Given the description of an element on the screen output the (x, y) to click on. 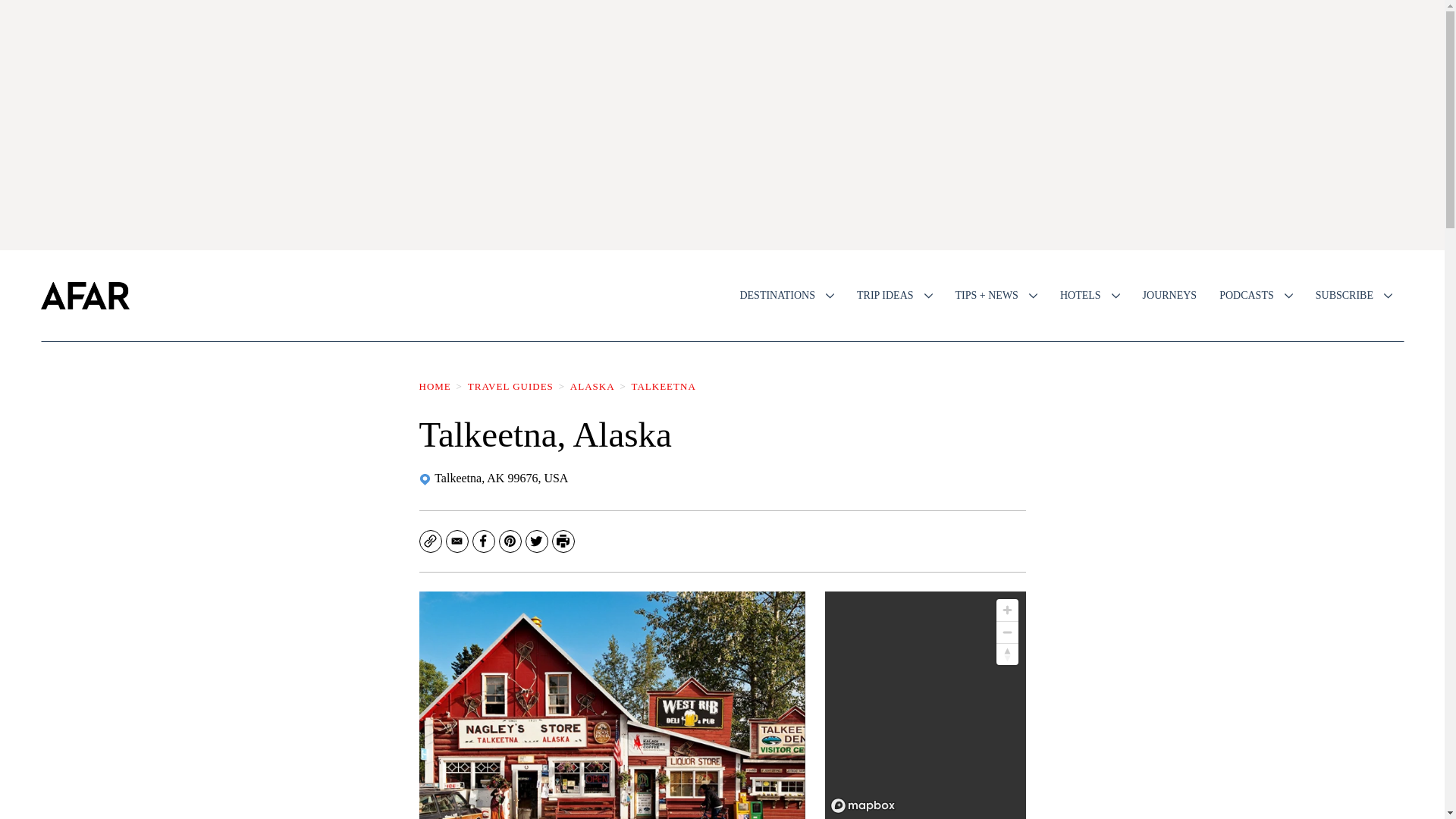
Zoom out (1006, 631)
Reset bearing to north (1006, 654)
Zoom in (1006, 609)
